Given the description of an element on the screen output the (x, y) to click on. 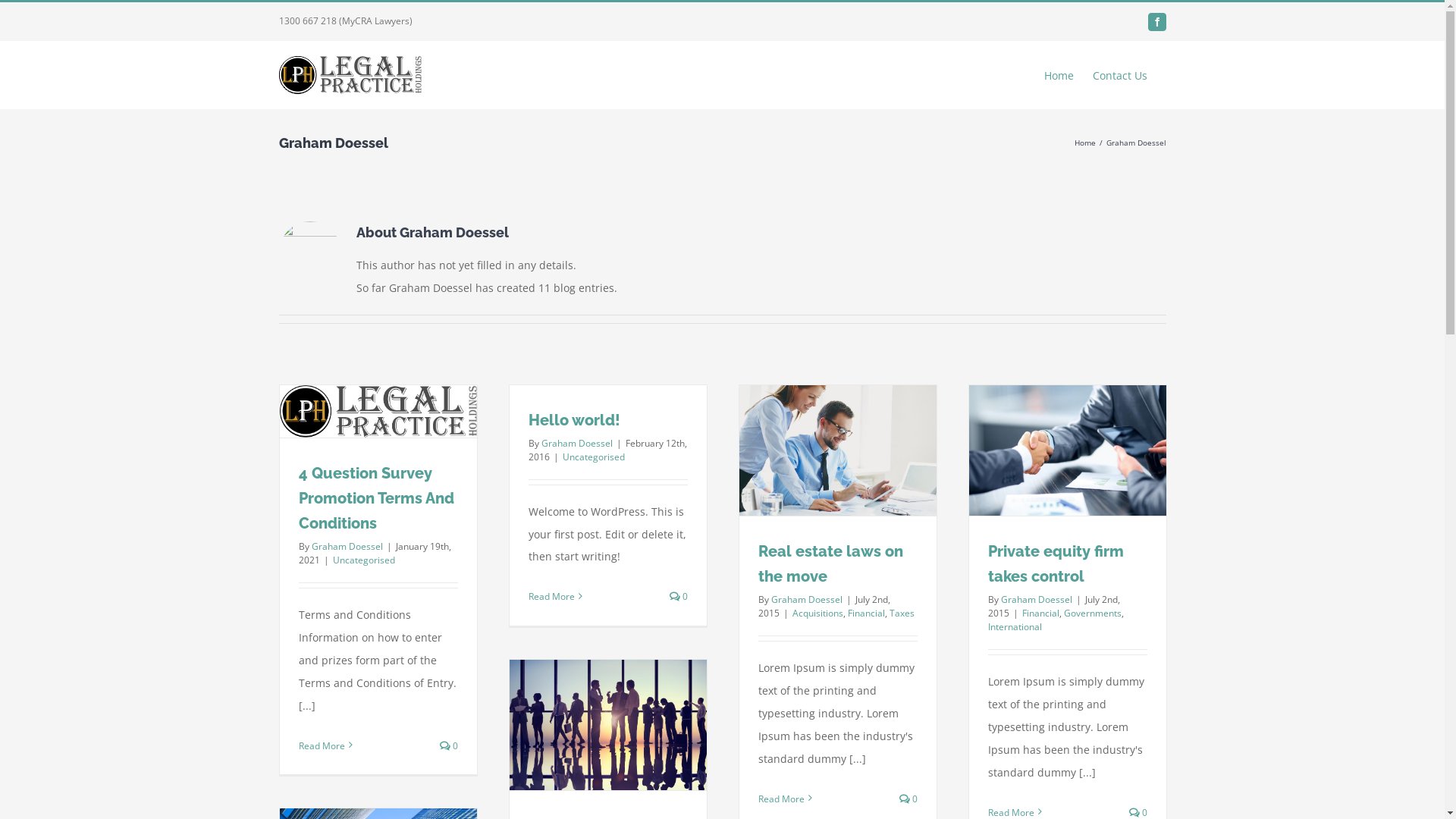
Graham Doessel Element type: text (576, 442)
Read More Element type: text (321, 745)
 0 Element type: text (678, 595)
International Element type: text (1014, 626)
Uncategorised Element type: text (363, 559)
Read More Element type: text (550, 595)
Graham Doessel Element type: text (1036, 599)
Uncategorised Element type: text (593, 456)
Financial Element type: text (1040, 612)
Graham Doessel Element type: text (346, 545)
Home Element type: text (1084, 142)
Read More Element type: text (781, 798)
Hello world! Element type: text (573, 420)
Real estate laws on the move Element type: text (830, 563)
 0 Element type: text (908, 798)
Graham Doessel Element type: text (805, 599)
Contact Us Element type: text (1119, 74)
Facebook Element type: text (1157, 21)
Taxes Element type: text (900, 612)
Governments Element type: text (1091, 612)
Home Element type: text (1058, 74)
Private equity firm takes control Element type: text (1055, 563)
 0 Element type: text (448, 745)
4 Question Survey Promotion Terms And Conditions Element type: text (376, 498)
Financial Element type: text (865, 612)
Acquisitions Element type: text (816, 612)
